Given the description of an element on the screen output the (x, y) to click on. 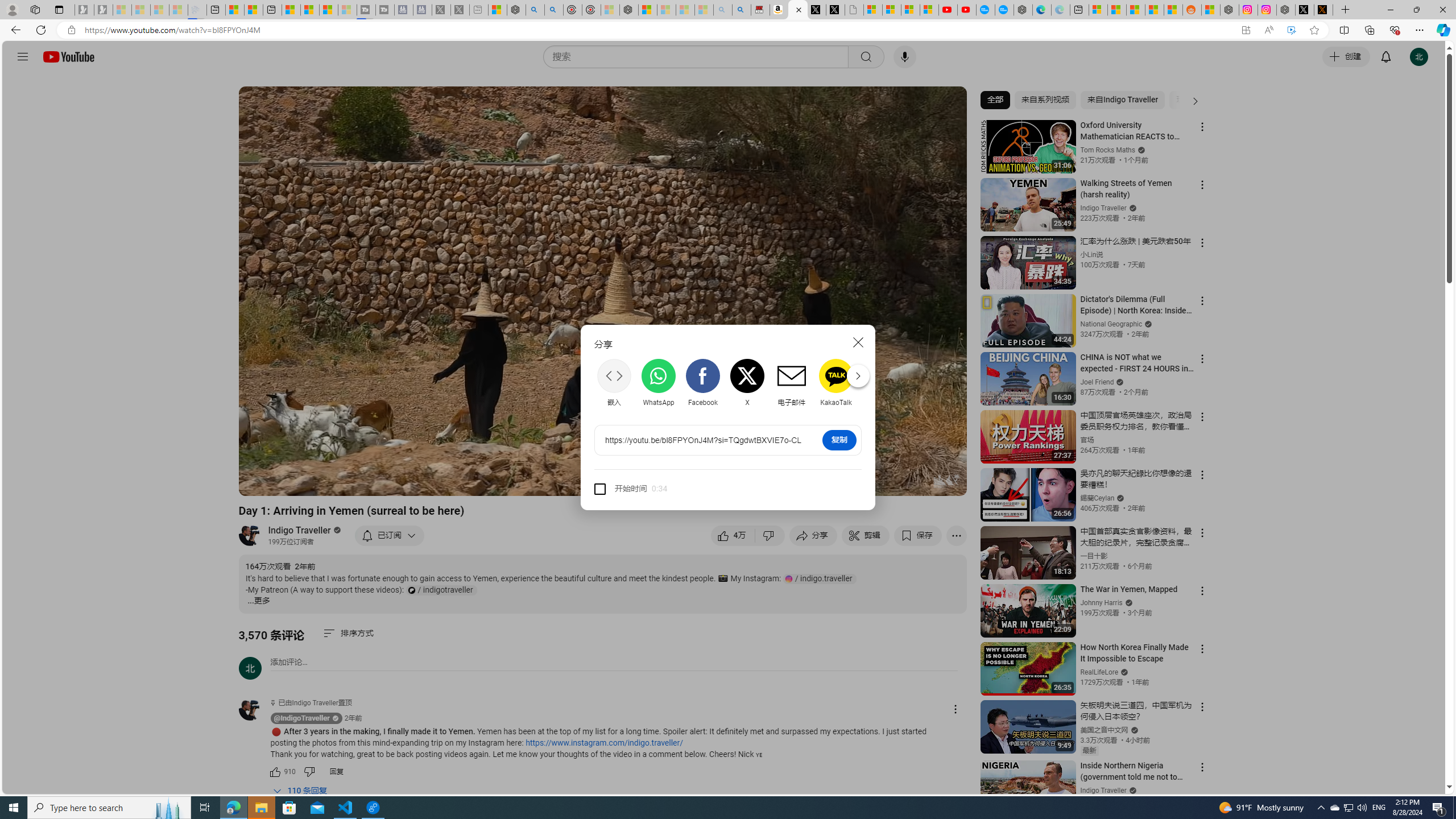
Reddit (879, 383)
Indigo Traveller (299, 530)
https://www.instagram.com/indigo.traveller/ (603, 742)
